Given the description of an element on the screen output the (x, y) to click on. 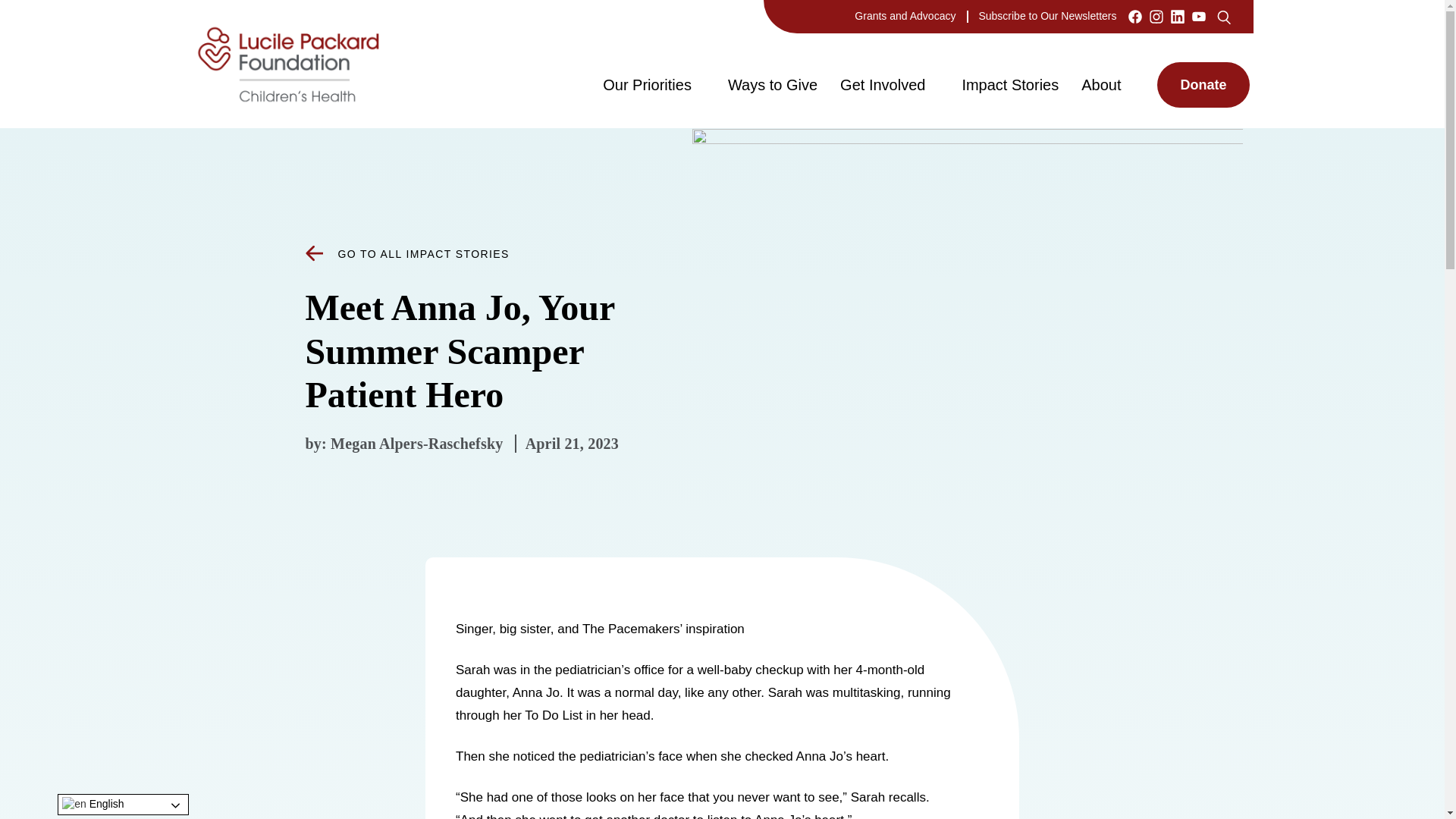
Ways to Give (772, 83)
Grants and Advocacy (904, 15)
Impact Stories (1009, 83)
Subscribe to Our Newsletters (1047, 15)
